Given the description of an element on the screen output the (x, y) to click on. 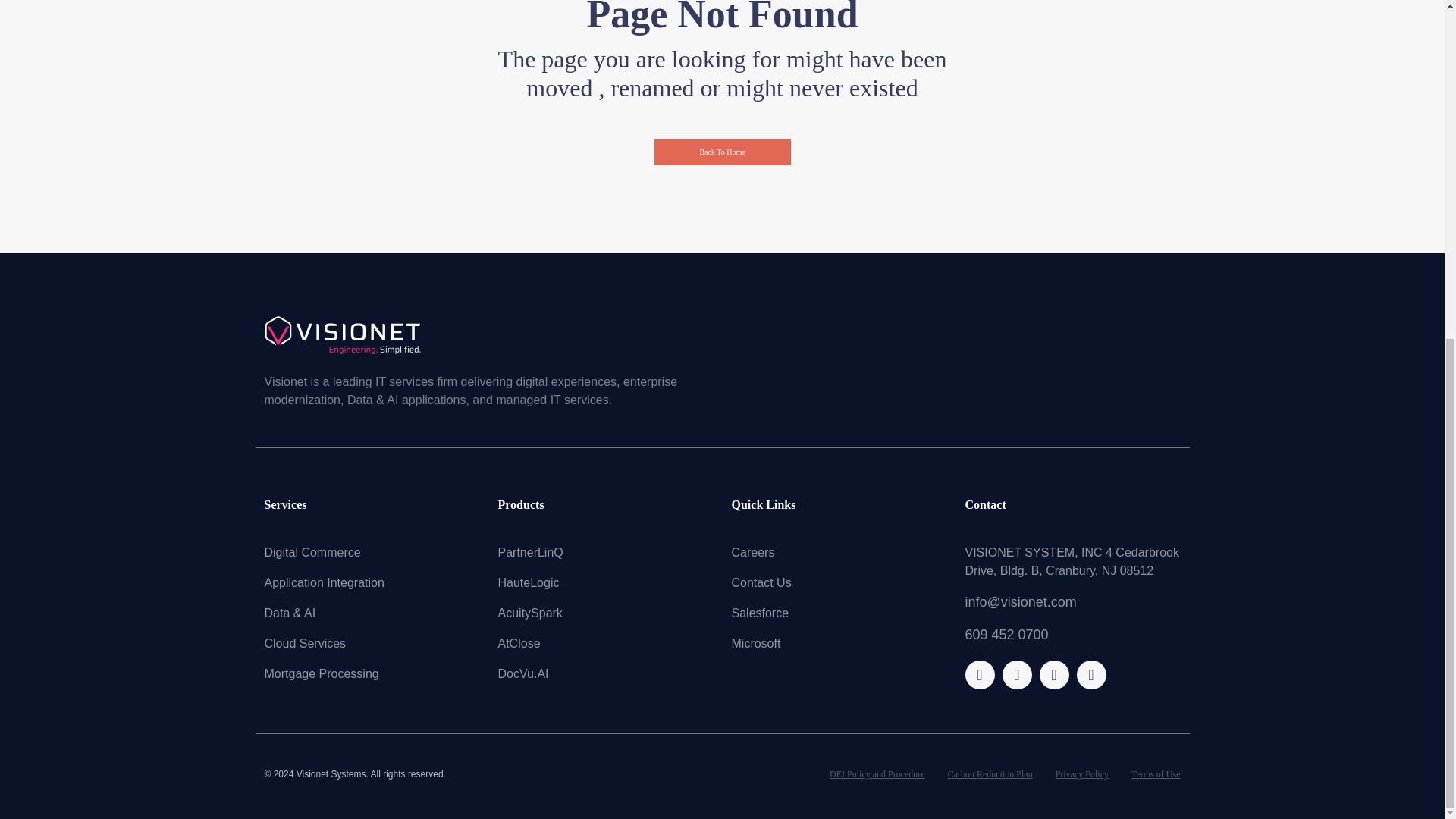
twitter (1054, 674)
linkedin (1090, 674)
instagram (1016, 674)
facebook (980, 674)
